Given the description of an element on the screen output the (x, y) to click on. 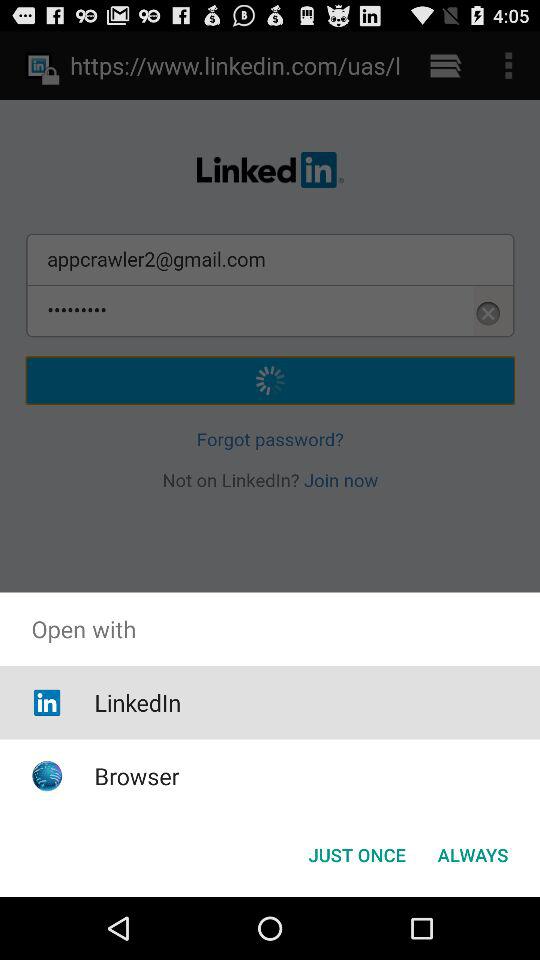
open the linkedin item (137, 702)
